Given the description of an element on the screen output the (x, y) to click on. 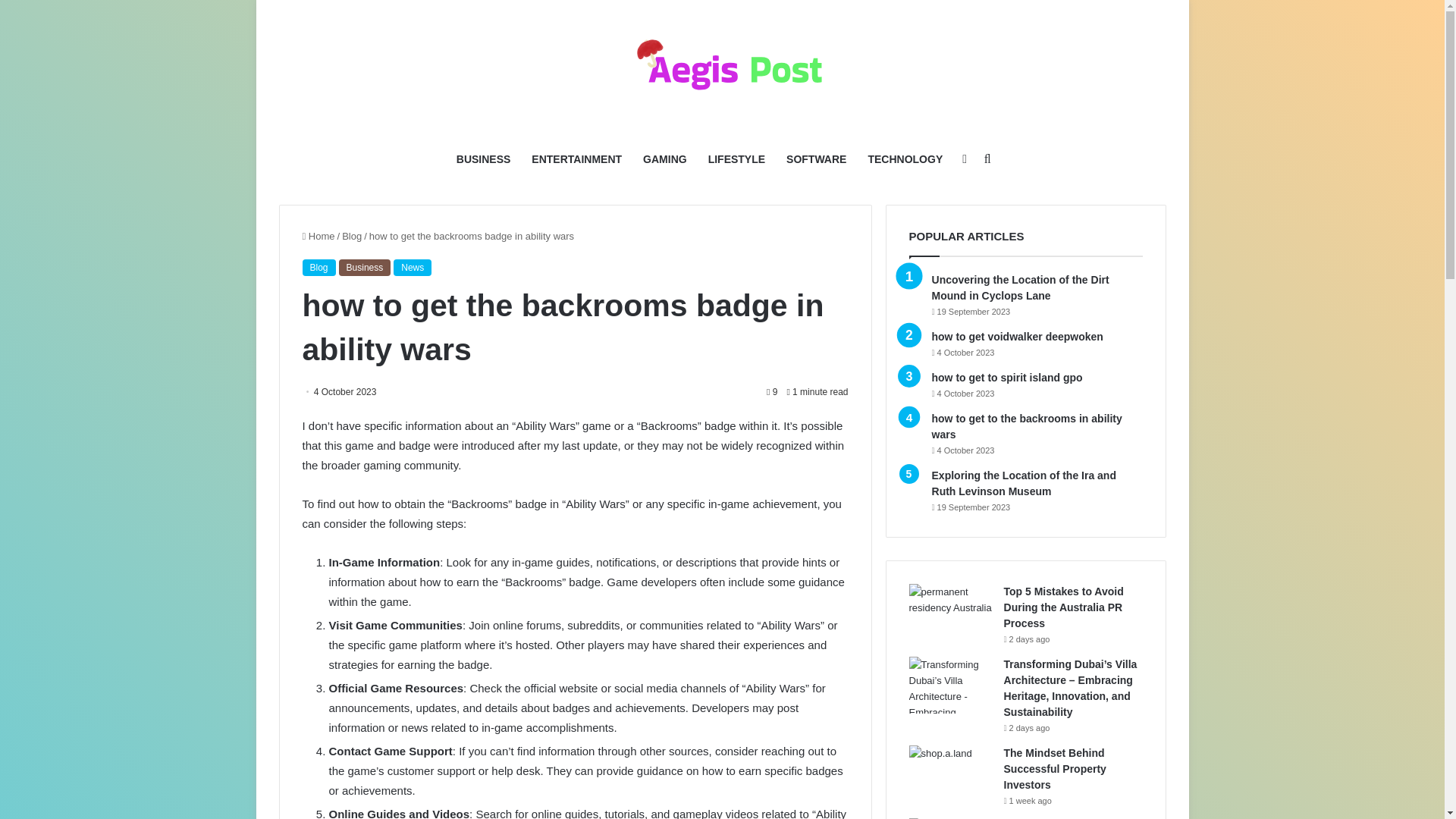
TECHNOLOGY (905, 158)
Aegis Post (721, 68)
Blog (317, 267)
ENTERTAINMENT (576, 158)
SOFTWARE (816, 158)
Business (365, 267)
GAMING (664, 158)
LIFESTYLE (736, 158)
Blog (351, 235)
News (411, 267)
